Given the description of an element on the screen output the (x, y) to click on. 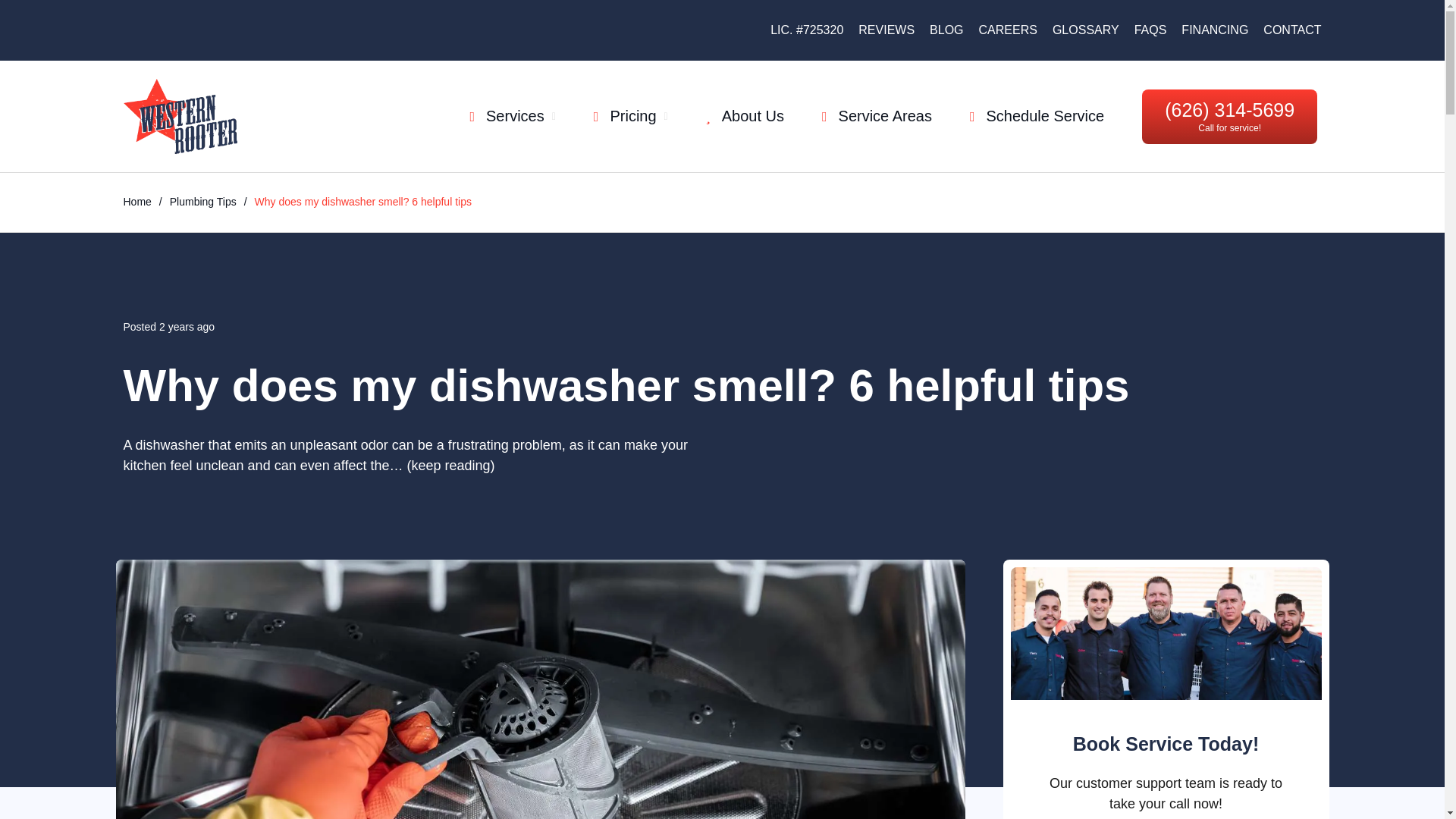
REVIEWS (886, 29)
FAQS (1150, 29)
Plumbing Tips (202, 201)
GLOSSARY (1085, 29)
FINANCING (1213, 29)
Services (511, 115)
CONTACT (1291, 29)
Home (136, 201)
BLOG (946, 29)
CAREERS (1007, 29)
